Given the description of an element on the screen output the (x, y) to click on. 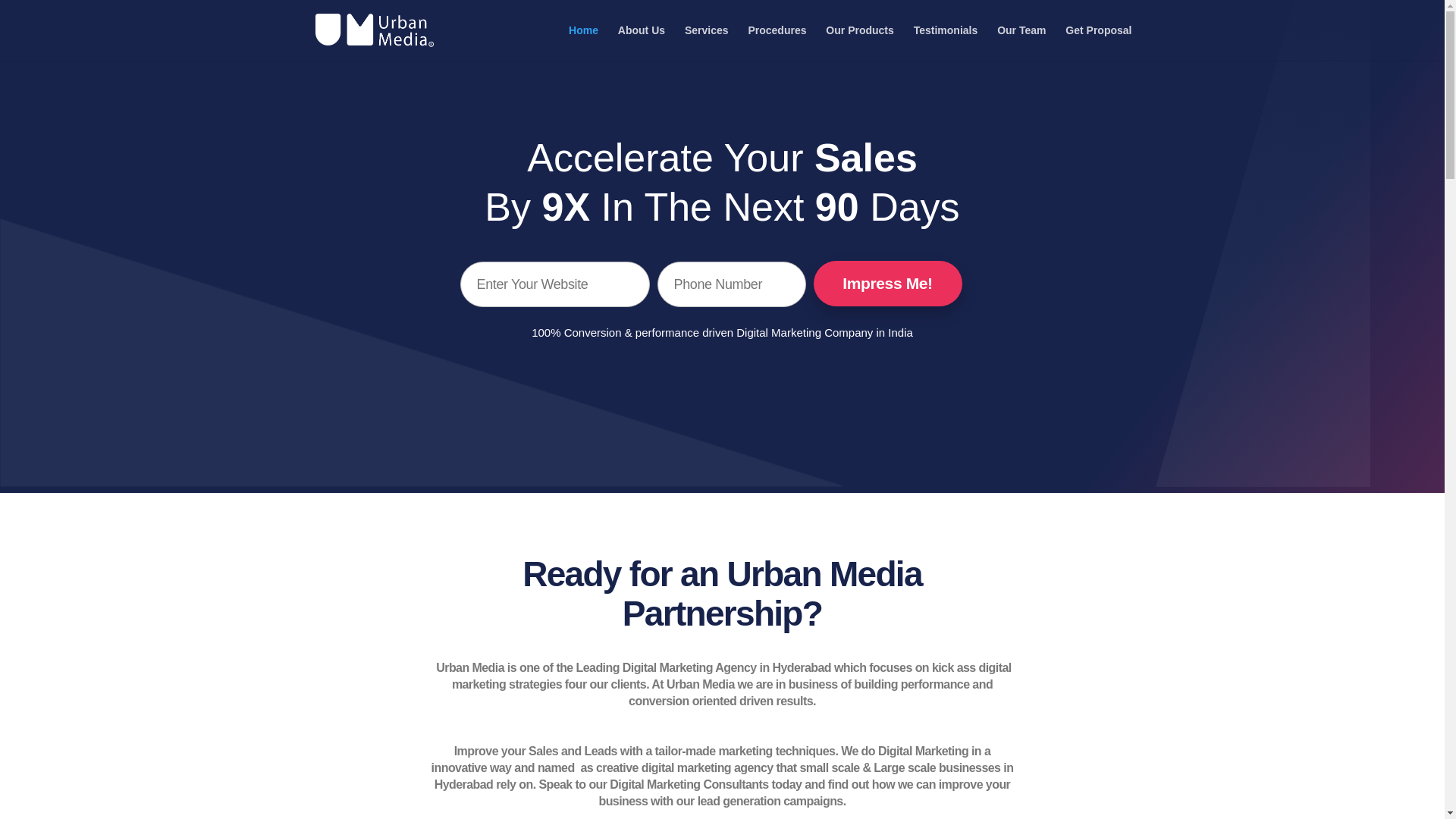
Our Products (859, 42)
Impress Me! (886, 283)
Get Proposal (1098, 42)
Impress Me! (886, 283)
Services (706, 42)
Testimonials (946, 42)
Our Team (1021, 42)
Procedures (777, 42)
About Us (641, 42)
